Given the description of an element on the screen output the (x, y) to click on. 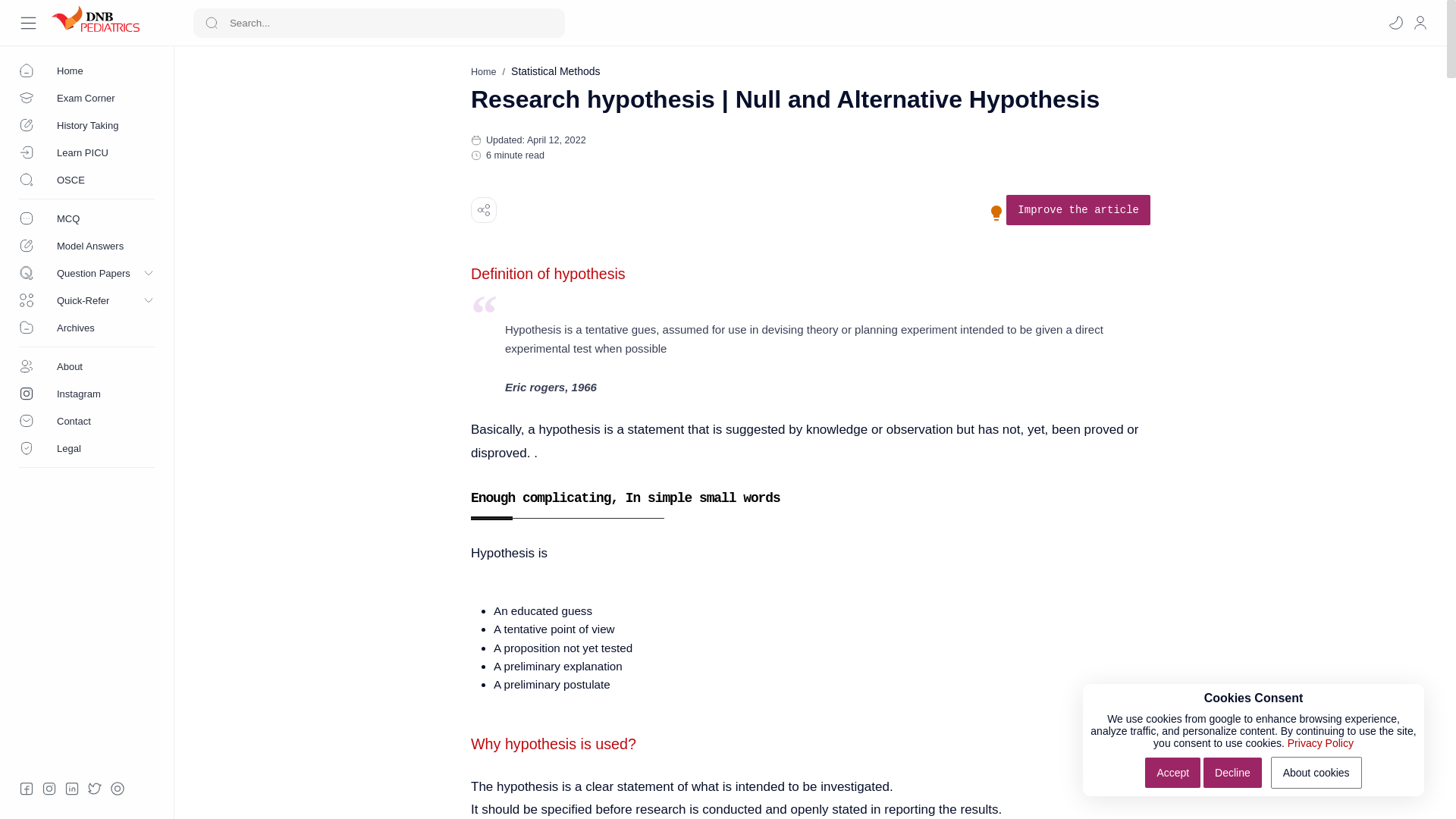
Home (483, 71)
Exam Corner (86, 97)
Instagram (86, 393)
Learn PICU (86, 152)
Archives (86, 327)
Contact (86, 420)
OSCE (86, 179)
About (86, 366)
MCQ (86, 217)
Last updated: April 12, 2022 (543, 140)
